Given the description of an element on the screen output the (x, y) to click on. 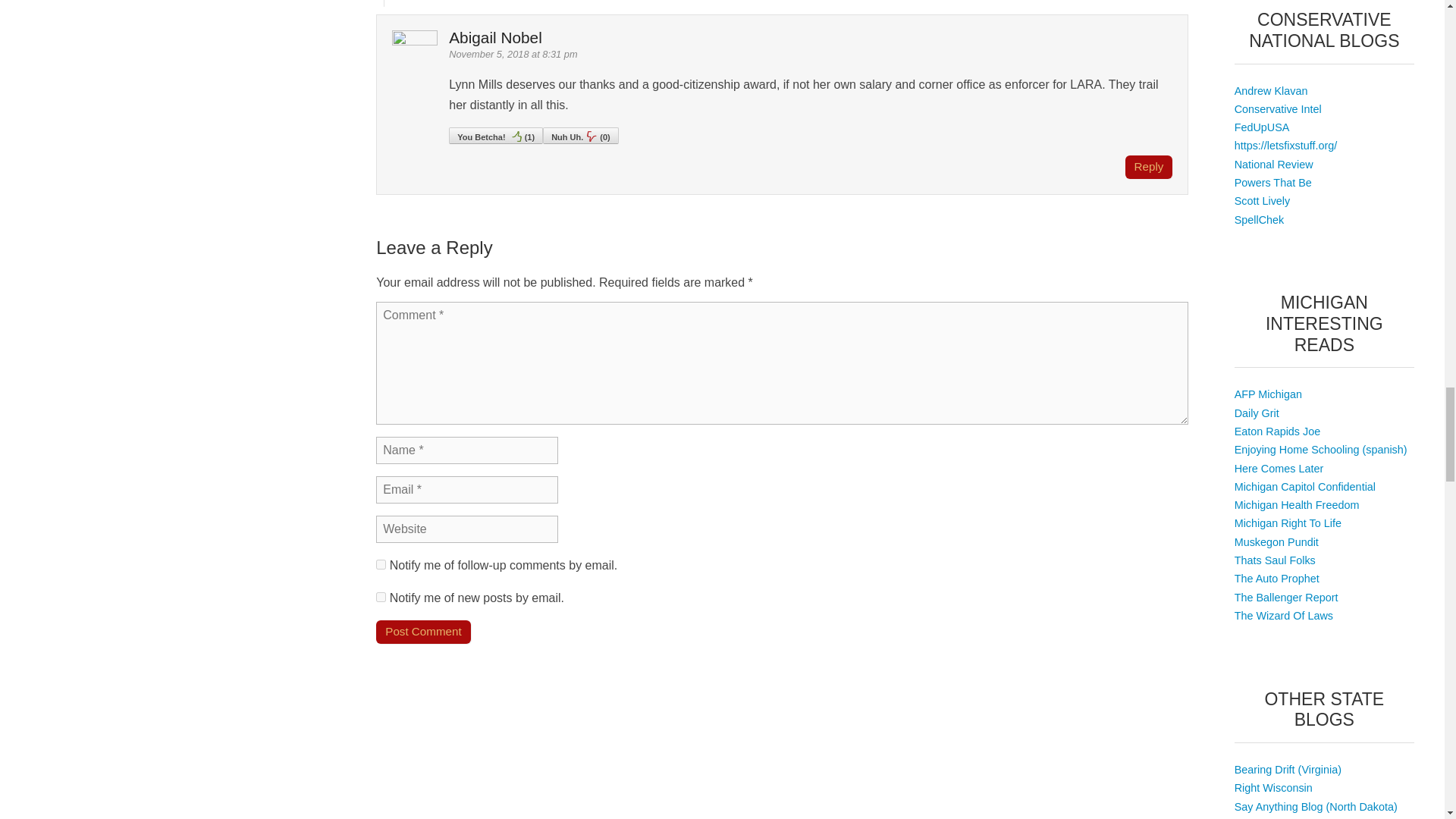
subscribe (380, 596)
Post Comment (422, 630)
subscribe (380, 564)
